Given the description of an element on the screen output the (x, y) to click on. 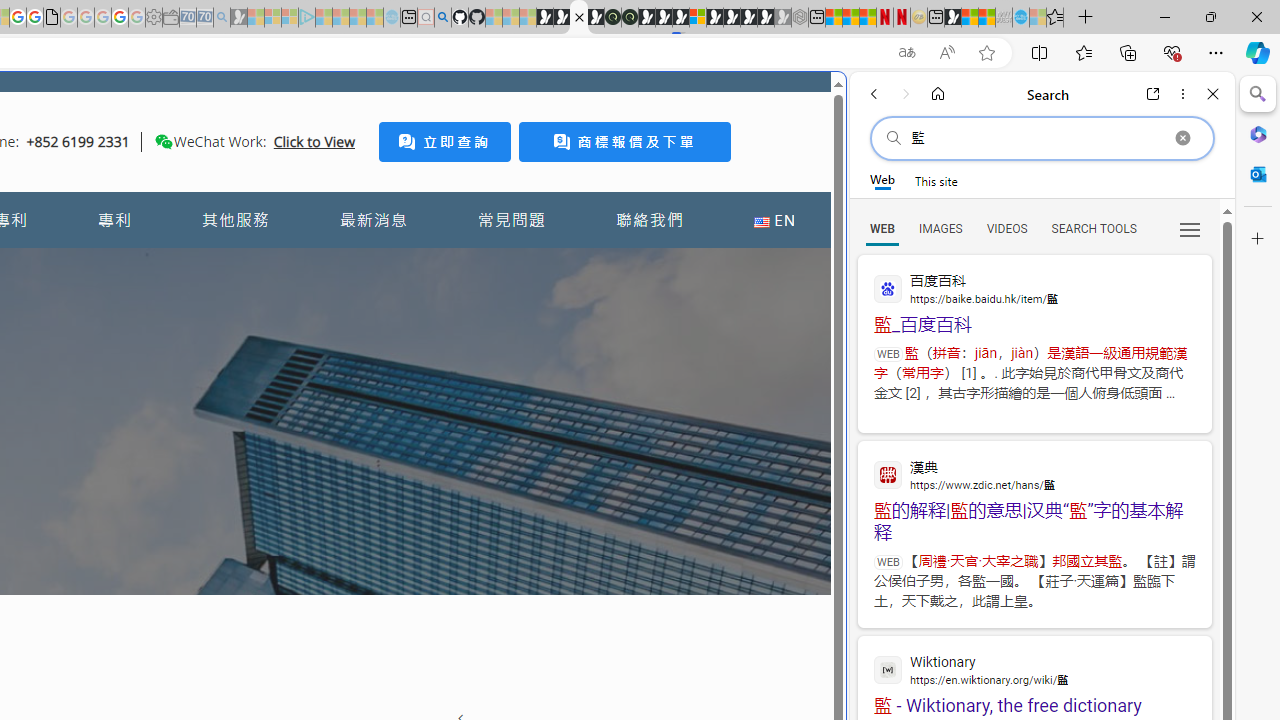
Wiktionary (1034, 669)
Earth has six continents not seven, radical new study claims (986, 17)
